Given the description of an element on the screen output the (x, y) to click on. 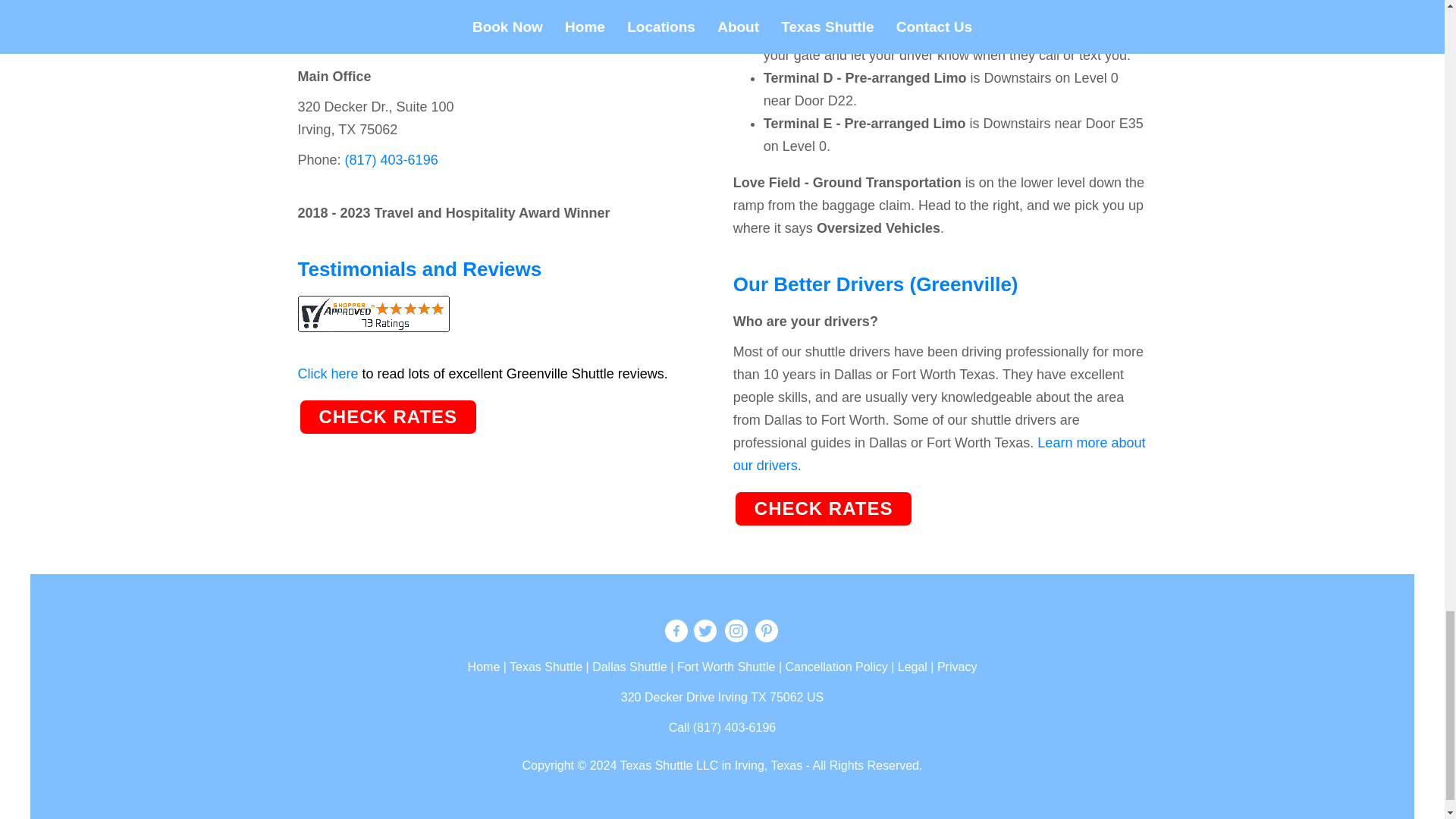
Texas Shuttle Phone Number (722, 727)
Check Airport Shuttle Rates (823, 508)
Texas Shuttle Instagram (735, 632)
Dallas Shuttle (629, 666)
CHECK RATES (388, 415)
Cancellation Policy (837, 666)
Texas Shuttle Toll Free Phone Number (391, 159)
Learn more about our drivers (939, 453)
Texas Shuttle Reviews (372, 319)
CHECK RATES (823, 508)
